Given the description of an element on the screen output the (x, y) to click on. 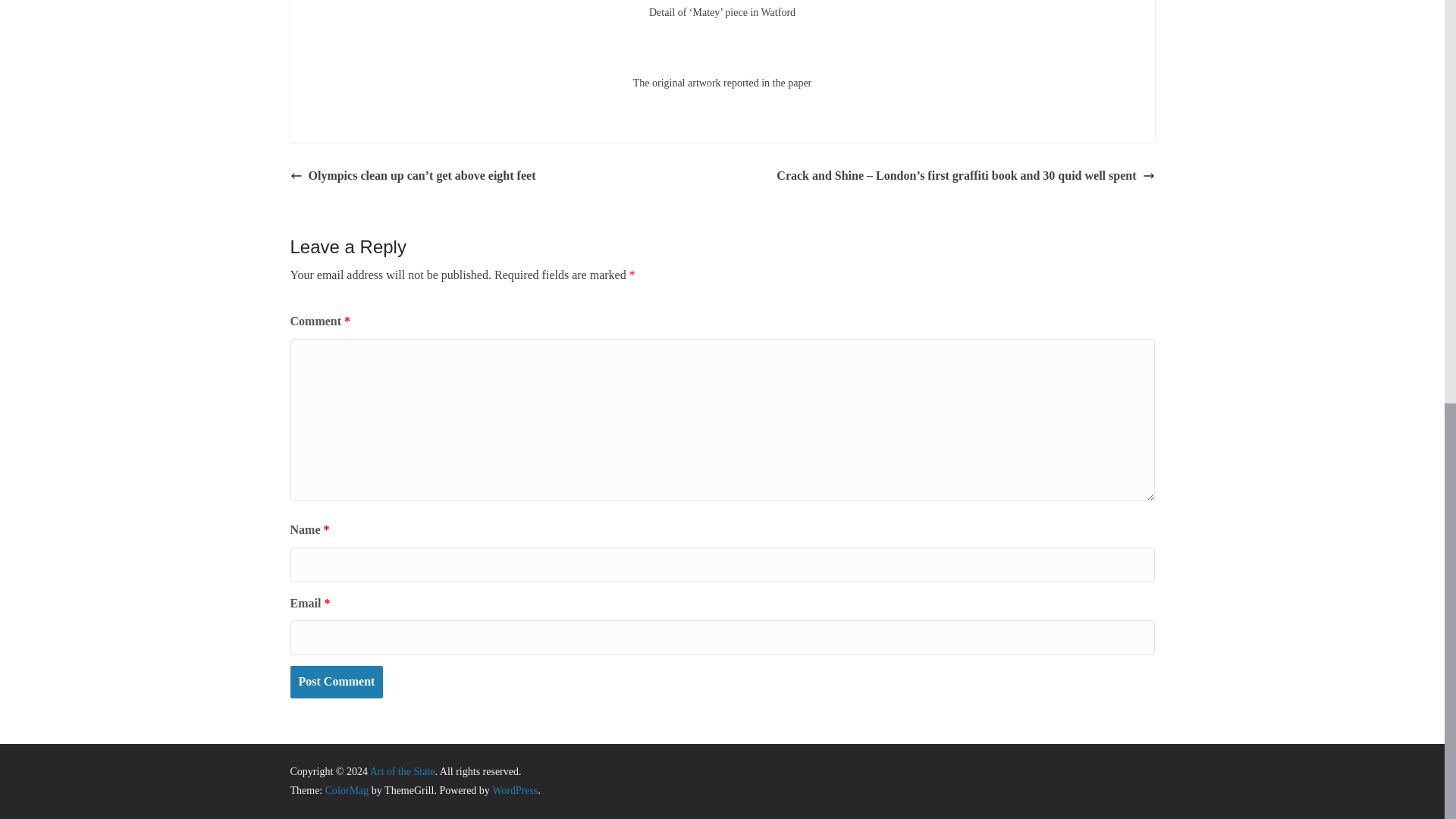
ColorMag (346, 790)
Art of the State (402, 771)
WordPress (514, 790)
Post Comment (335, 681)
Post Comment (335, 681)
WordPress (514, 790)
Art of the State (402, 771)
ColorMag (346, 790)
